Given the description of an element on the screen output the (x, y) to click on. 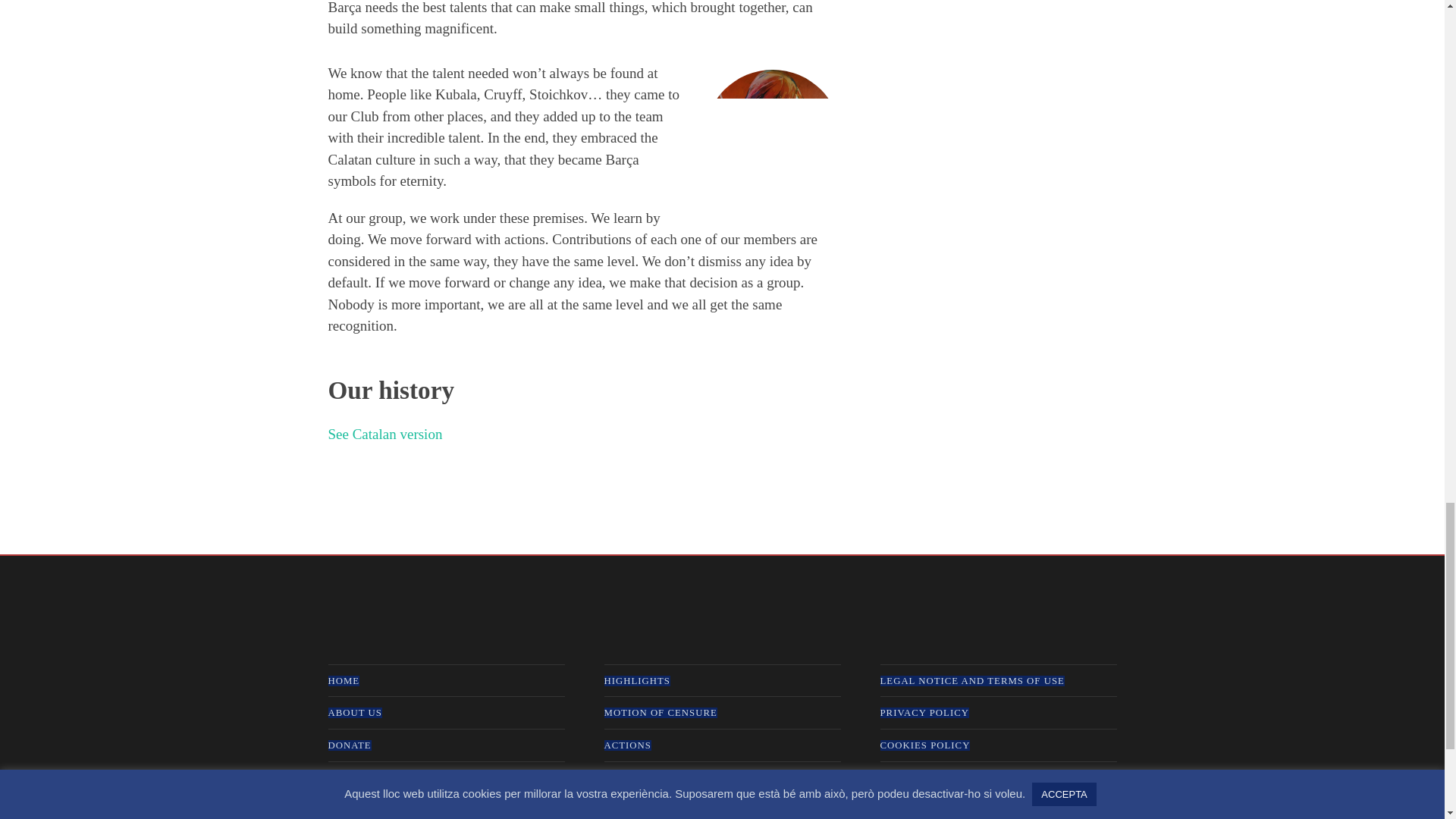
See Catalan version (384, 433)
